Given the description of an element on the screen output the (x, y) to click on. 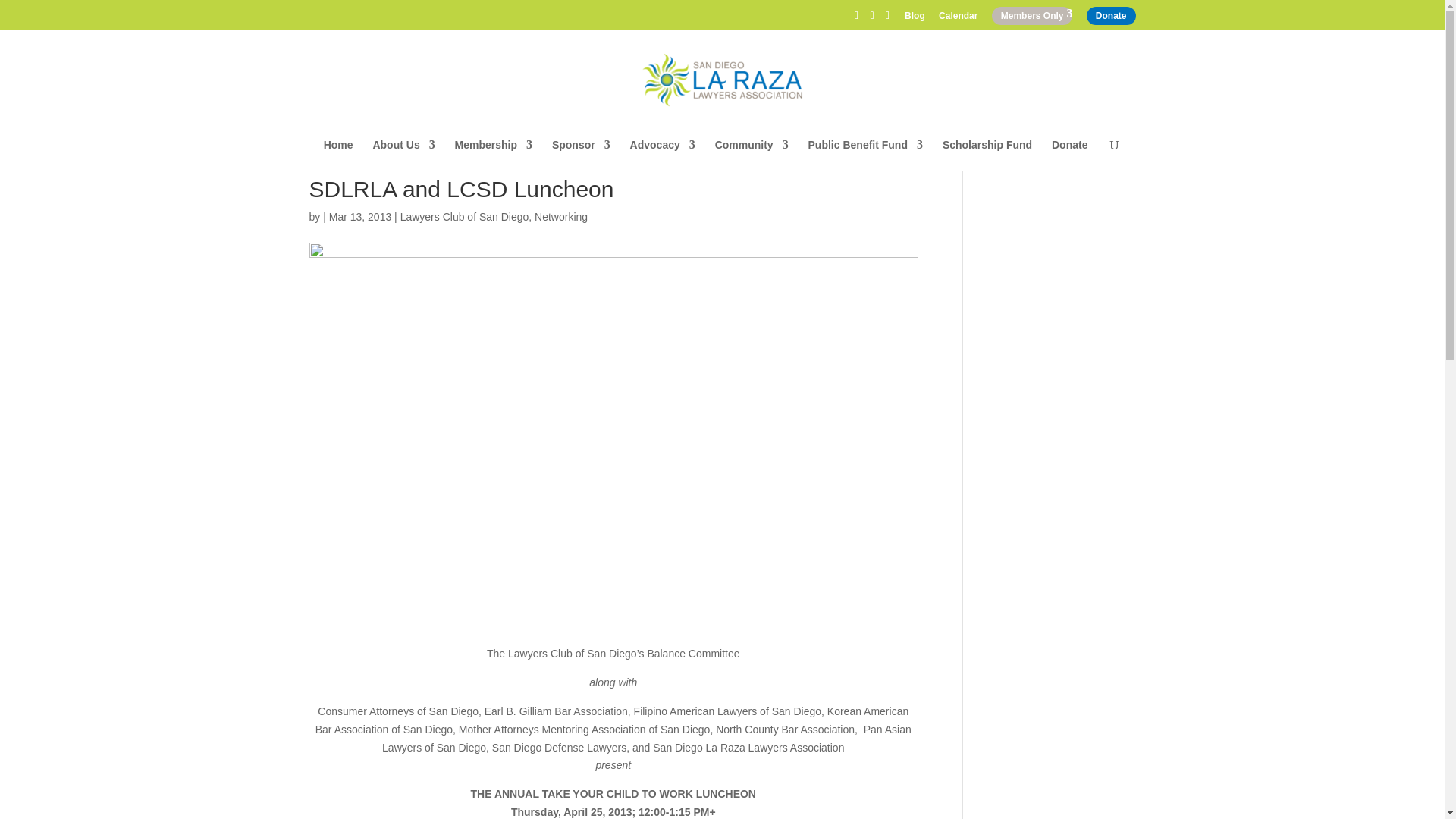
Members Only (1032, 15)
Membership (493, 154)
Calendar (957, 19)
Donate (1110, 15)
Community (751, 154)
Blog (914, 19)
Advocacy (662, 154)
Sponsor (580, 154)
About Us (402, 154)
Home (338, 154)
